Given the description of an element on the screen output the (x, y) to click on. 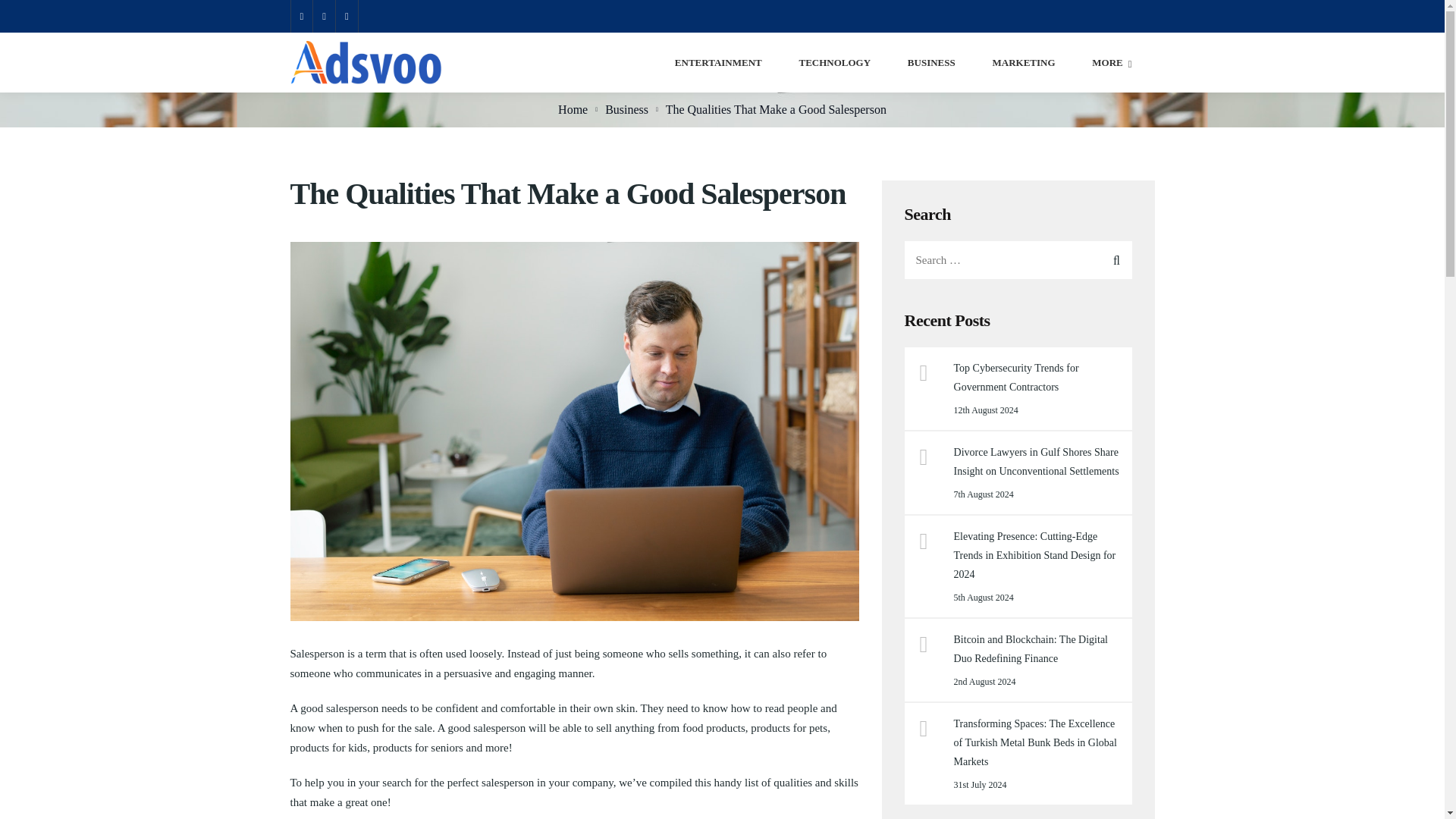
MARKETING (1022, 62)
ENTERTAINMENT (718, 62)
TECHNOLOGY (833, 62)
